Given the description of an element on the screen output the (x, y) to click on. 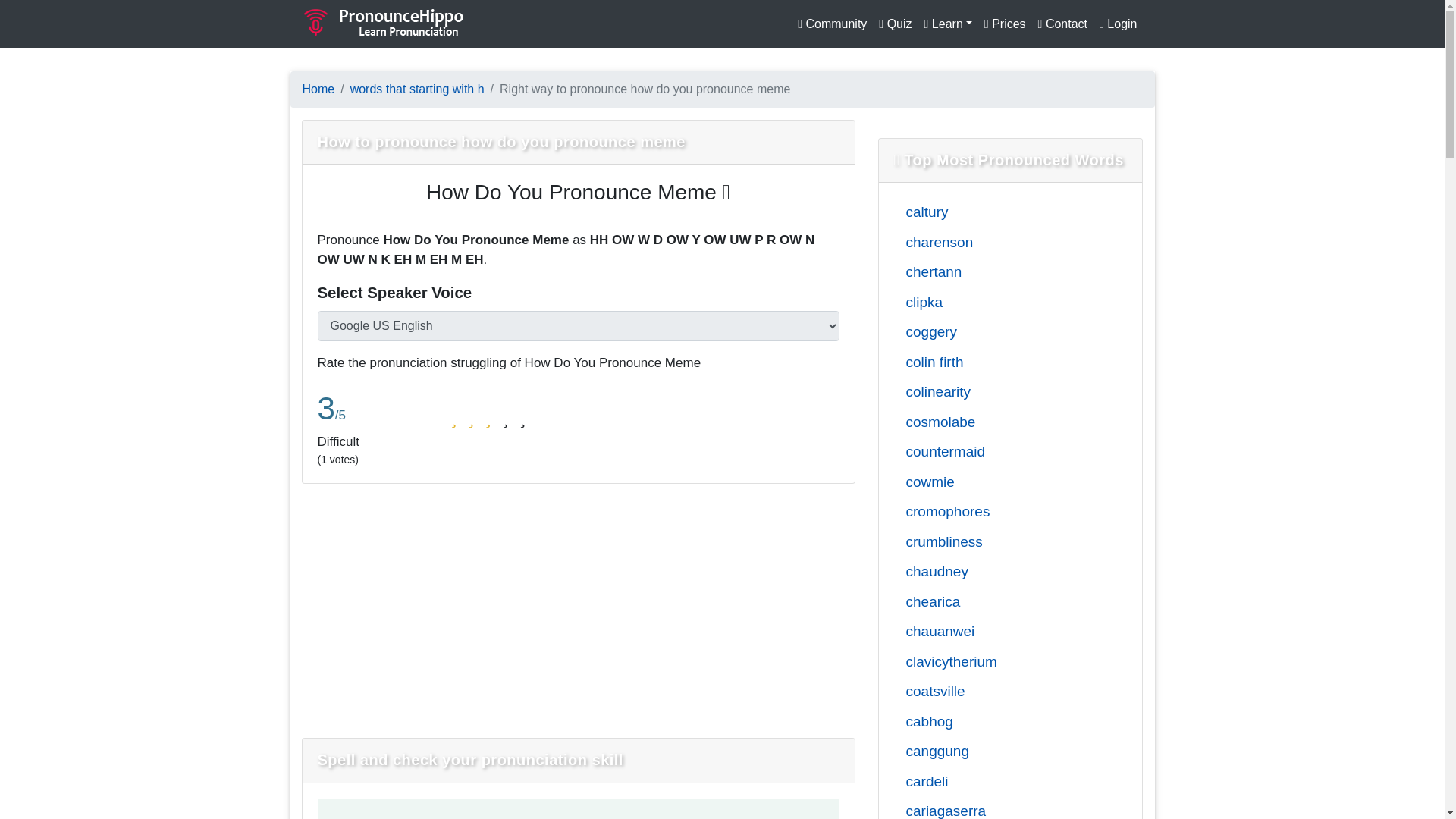
Contact (1062, 24)
How To Pronounce caltury (997, 212)
caltury (997, 212)
How To Pronounce chertann (997, 272)
cosmolabe (997, 422)
countermaid (997, 452)
Hear How Do You Pronounce Meme Pronunciation (578, 191)
Learn (948, 24)
Pronouncehippo Home Page (317, 89)
Prices (1005, 24)
clipka (997, 302)
Community (832, 24)
Quiz (894, 24)
Login (1117, 24)
coggery (997, 332)
